Given the description of an element on the screen output the (x, y) to click on. 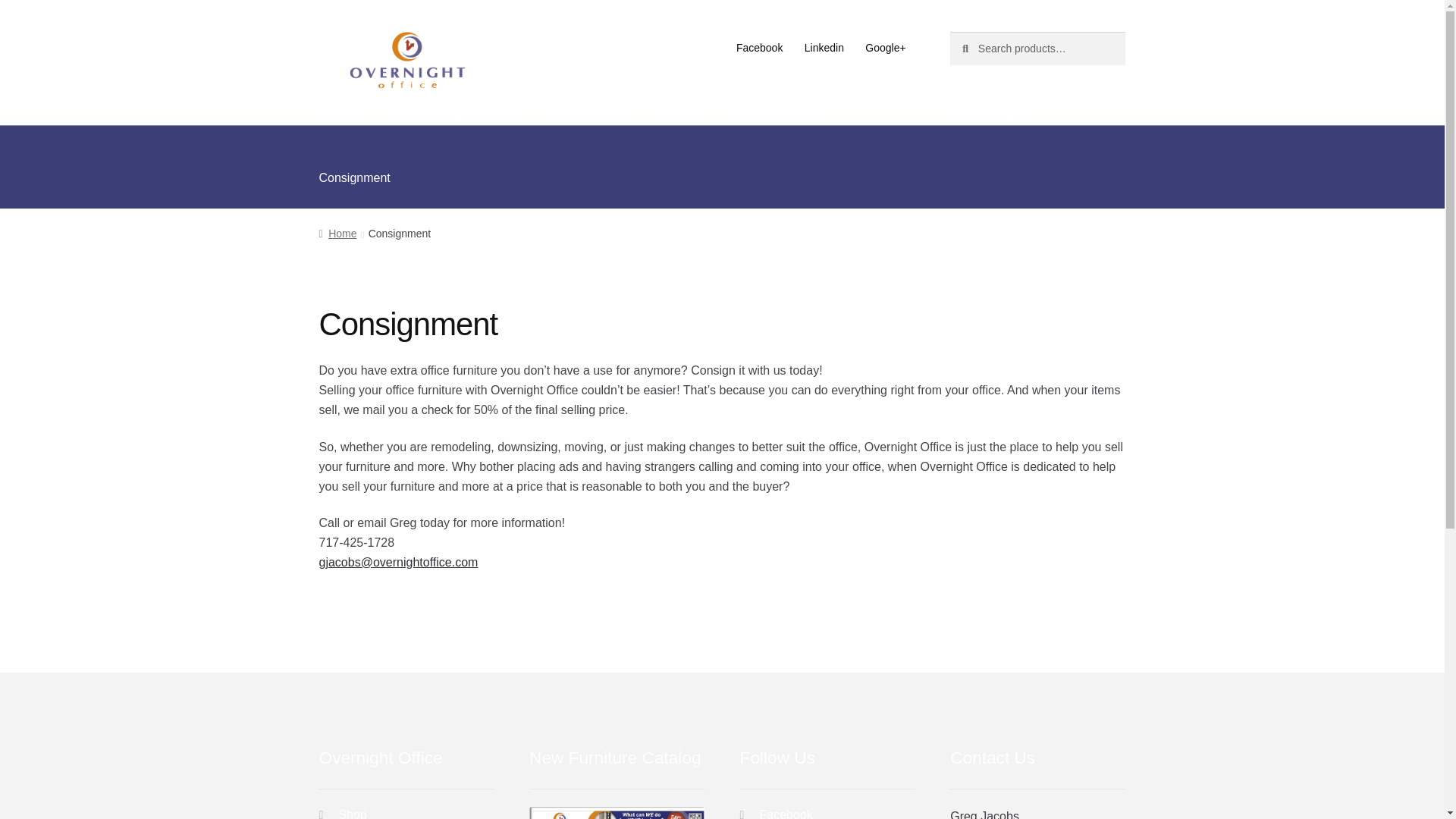
Consignment (355, 178)
Linkedin (823, 47)
Overnight Office (405, 60)
Delivery Services (773, 119)
Service (678, 119)
View your shopping cart (1037, 119)
Shop (341, 119)
Facebook (759, 47)
Home (337, 233)
Shop (351, 813)
